Given the description of an element on the screen output the (x, y) to click on. 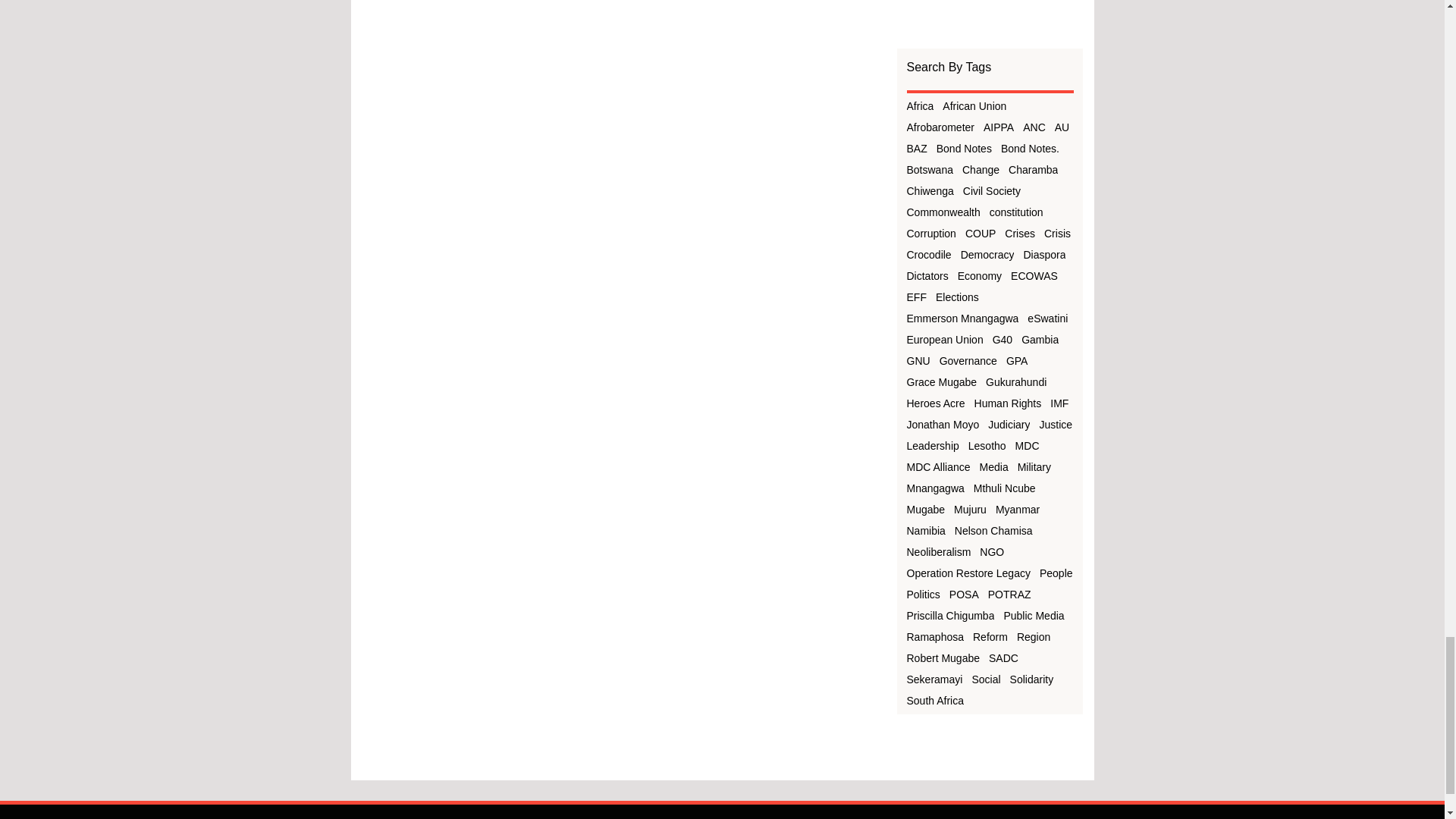
Economy (979, 275)
Bond Notes (963, 148)
Corruption (931, 233)
Crocodile (929, 254)
constitution (1016, 212)
Dictators (928, 275)
Democracy (987, 254)
Chiwenga (930, 191)
AIPPA (998, 127)
Bond Notes. (1030, 148)
BAZ (917, 148)
Diaspora (1044, 254)
Crisis (1056, 233)
Crises (1019, 233)
Afrobarometer (940, 127)
